Given the description of an element on the screen output the (x, y) to click on. 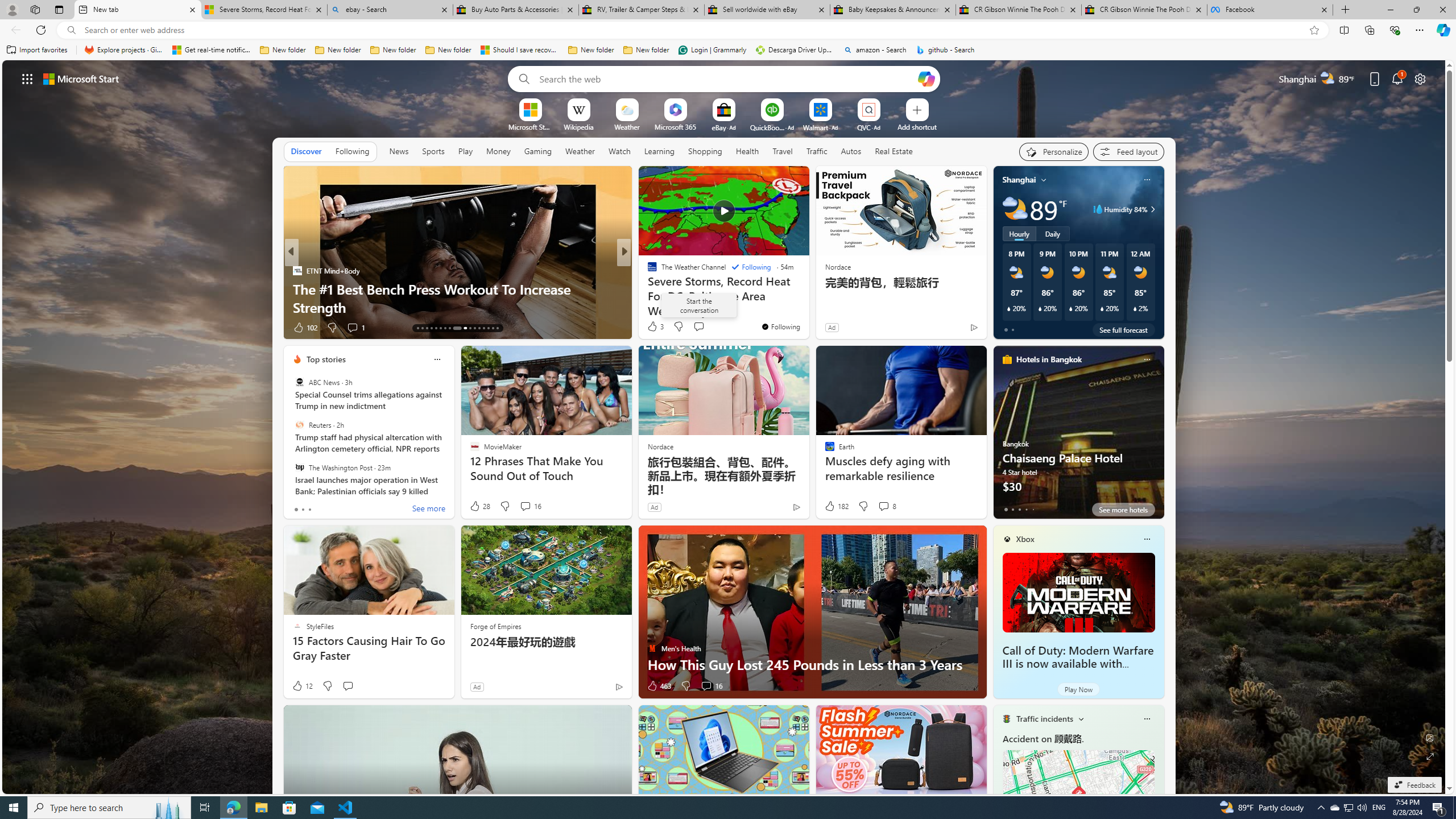
AutomationID: tab-19 (444, 328)
AutomationID: tab-28 (492, 328)
Dailymotion (647, 288)
Class: weather-arrow-glyph (1152, 208)
View comments 96 Comment (6, 327)
AutomationID: tab-16 (431, 328)
Verywell Mind (647, 288)
Athletes That Died Far Too Young (807, 307)
Change scenarios (1080, 718)
